Given the description of an element on the screen output the (x, y) to click on. 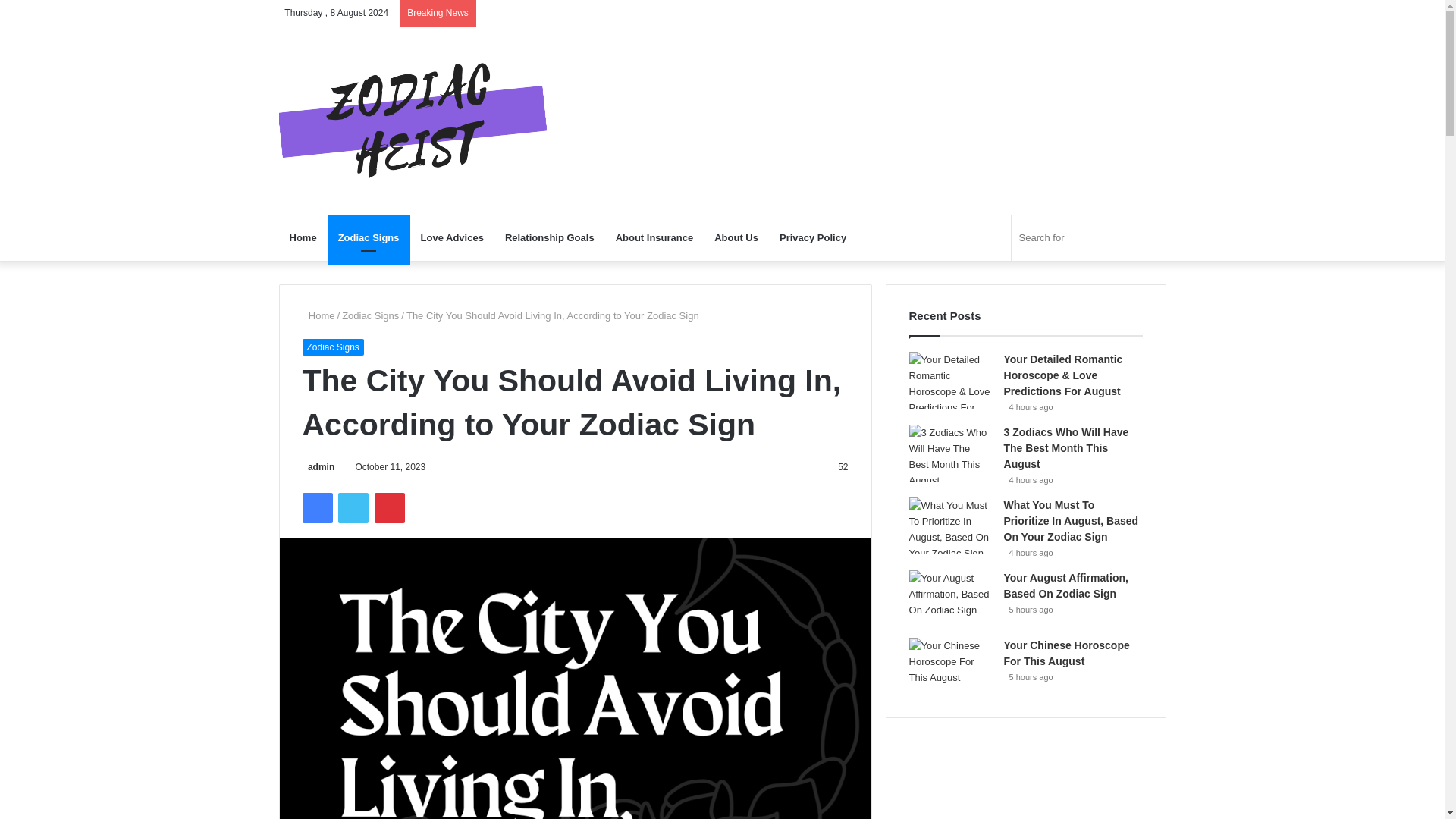
Zodiac Signs (368, 238)
admin (317, 466)
admin (317, 466)
Home (317, 315)
About Us (735, 238)
Privacy Policy (812, 238)
Zodiac Signs (331, 347)
Twitter (352, 508)
Love Advices (452, 238)
Pinterest (389, 508)
